Given the description of an element on the screen output the (x, y) to click on. 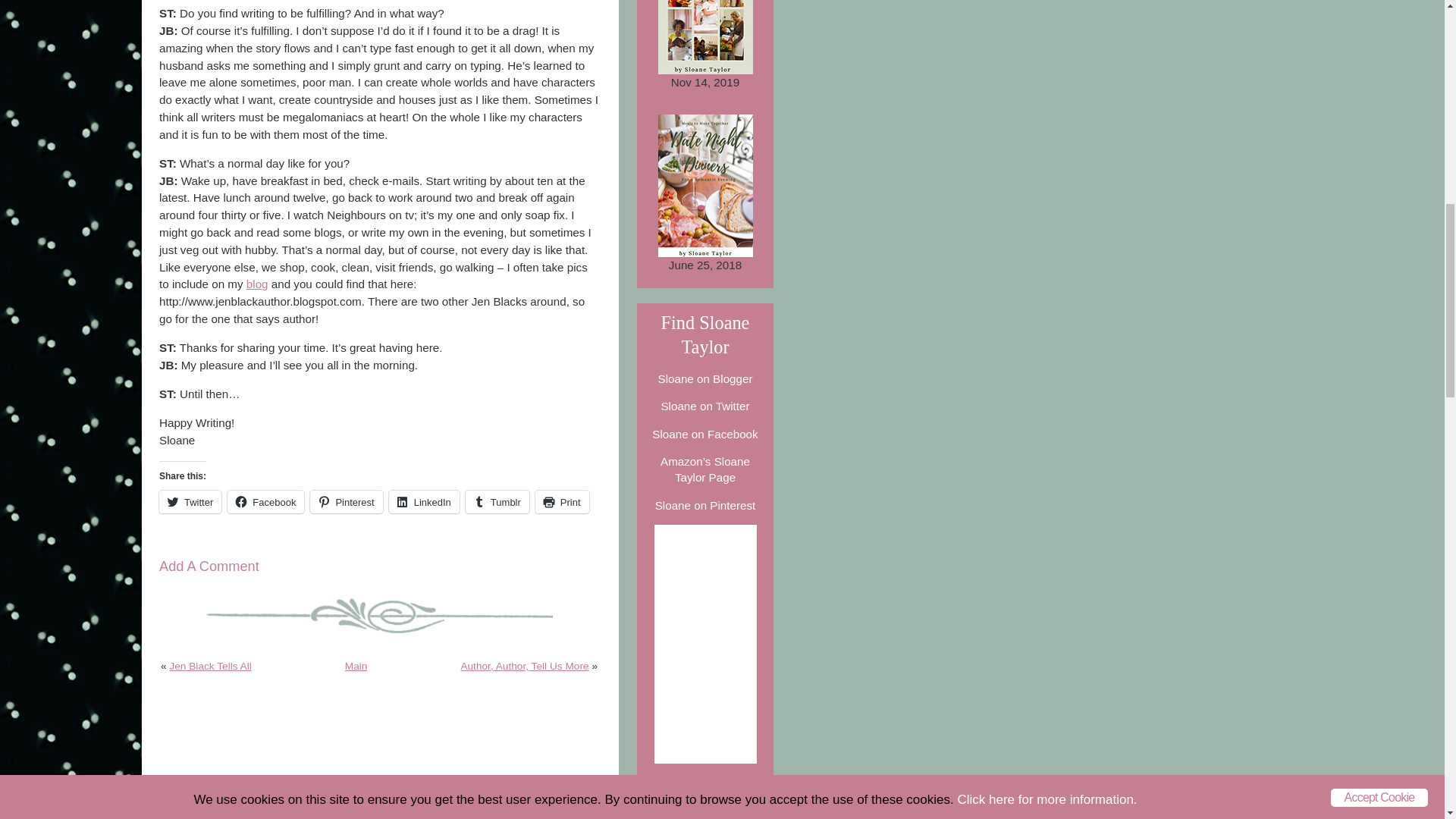
Print (562, 501)
Twitter (189, 501)
Facebook (265, 501)
Sloane on Twitter (705, 405)
Click to share on Twitter (189, 501)
Tumblr (497, 501)
Click to share on LinkedIn (424, 501)
Author, Author, Tell Us More (524, 665)
Sloane on Pinterest (705, 504)
Main (356, 665)
Add A Comment (208, 565)
blog (256, 283)
Pinterest (345, 501)
Sloane on Facebook (704, 433)
Sloane on Blogger (705, 378)
